Given the description of an element on the screen output the (x, y) to click on. 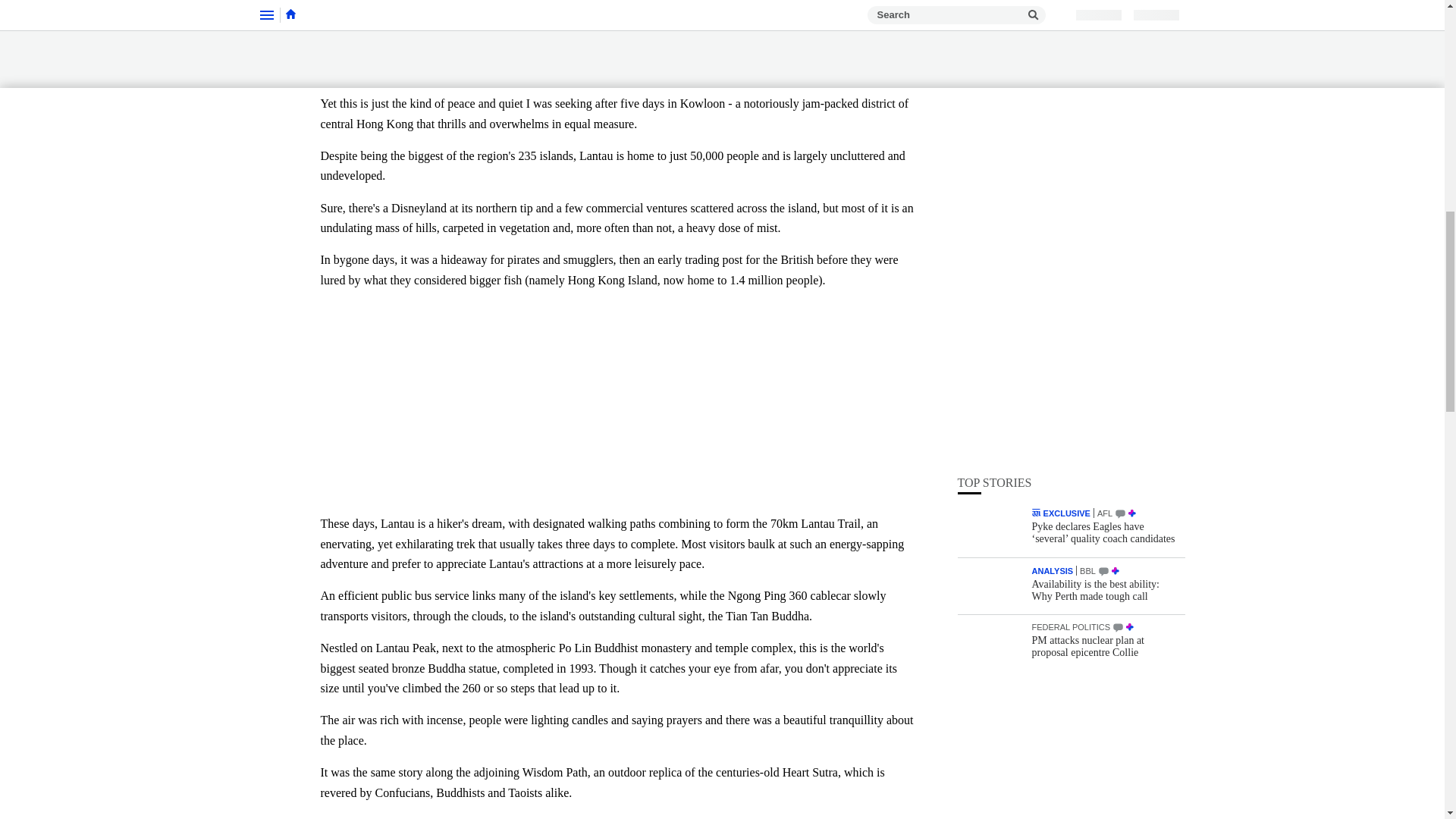
PREMIUM (1115, 168)
THE WEST AUSTRALIAN (1035, 111)
COMMENTS (1117, 225)
COMMENTS (1103, 169)
PREMIUM (1131, 112)
COMMENTS (1120, 112)
PREMIUM (1129, 225)
